Given the description of an element on the screen output the (x, y) to click on. 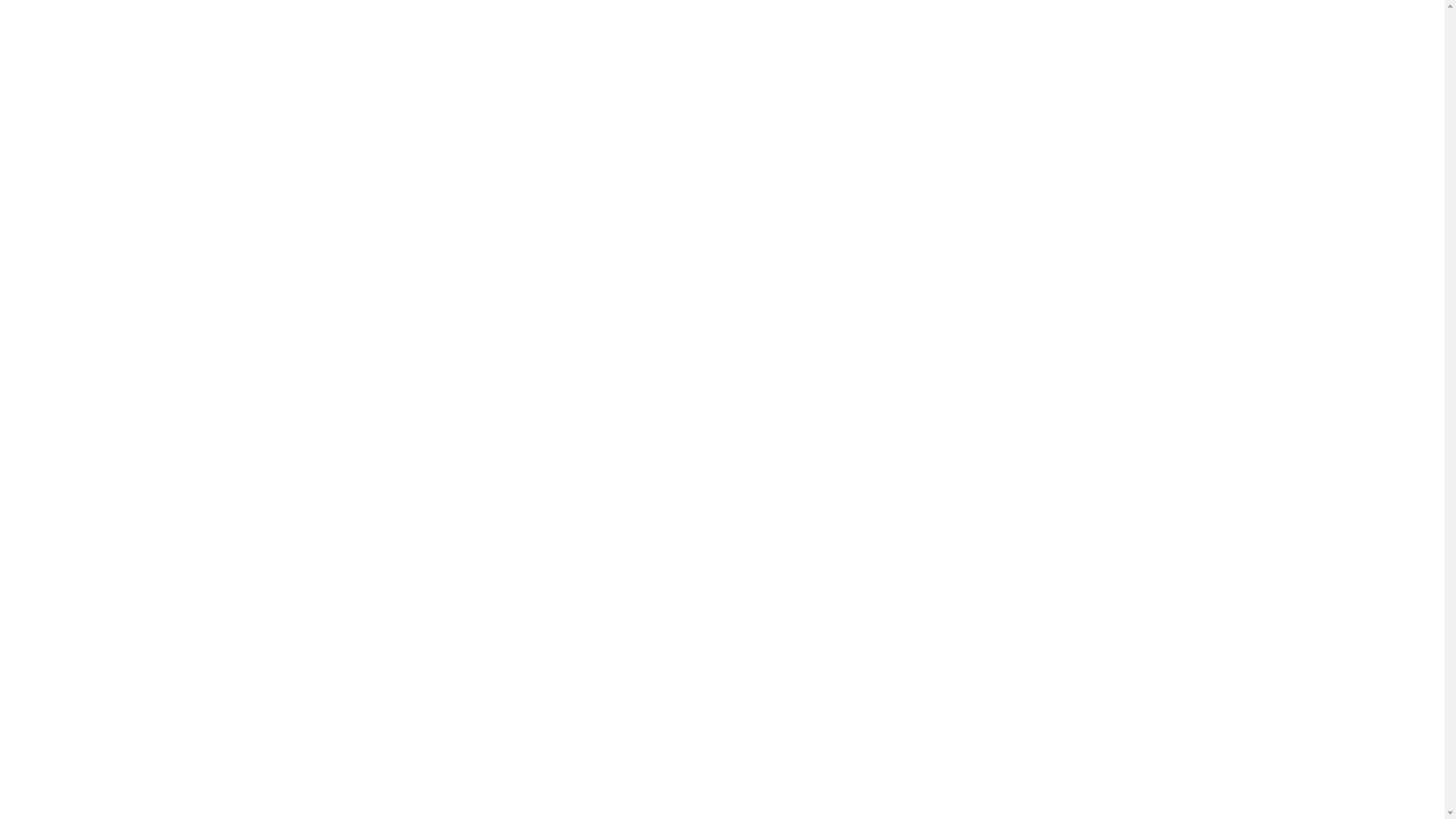
Embedded Content Element type: hover (722, 295)
